Given the description of an element on the screen output the (x, y) to click on. 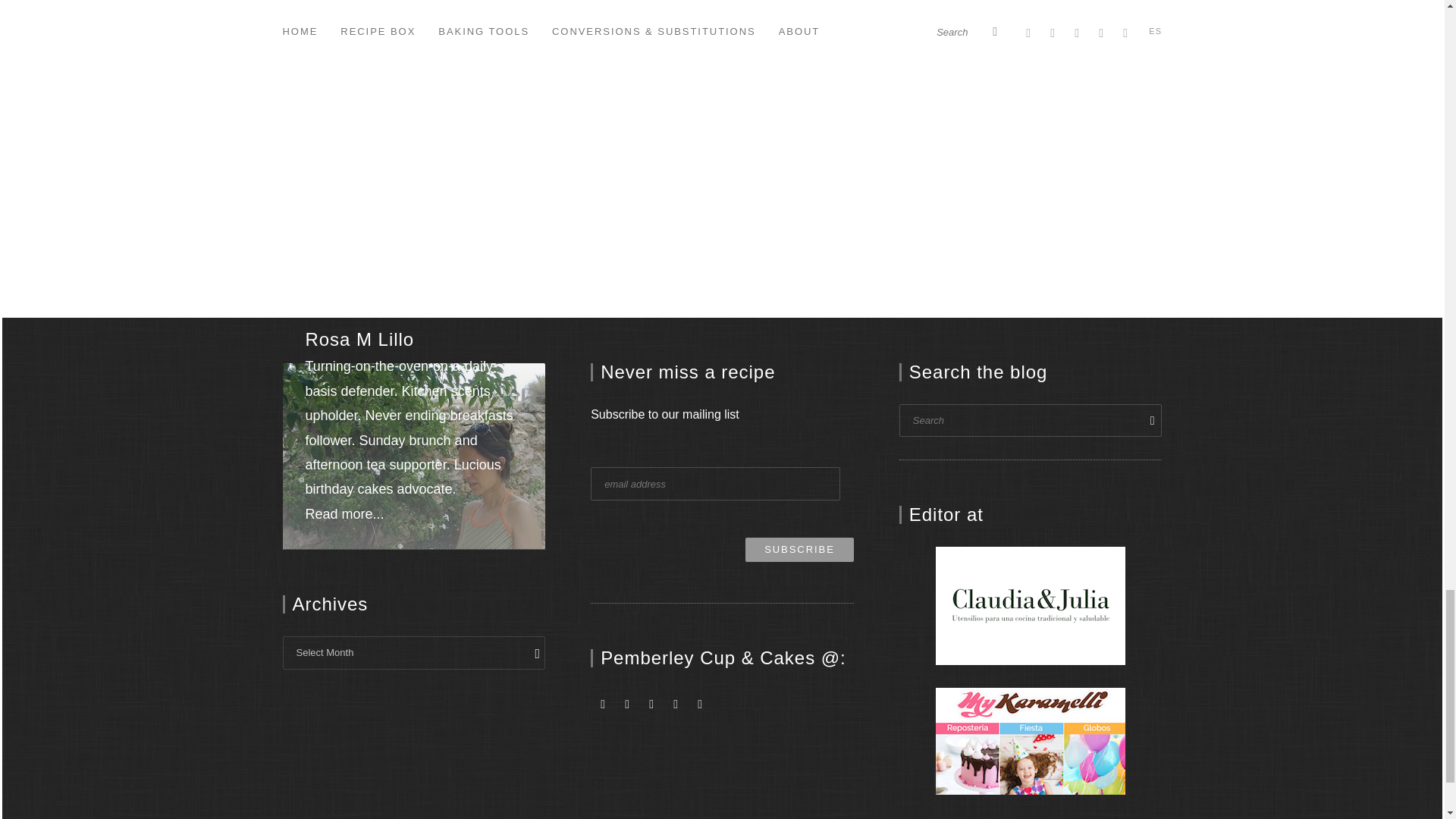
Subscribe (799, 549)
